Given the description of an element on the screen output the (x, y) to click on. 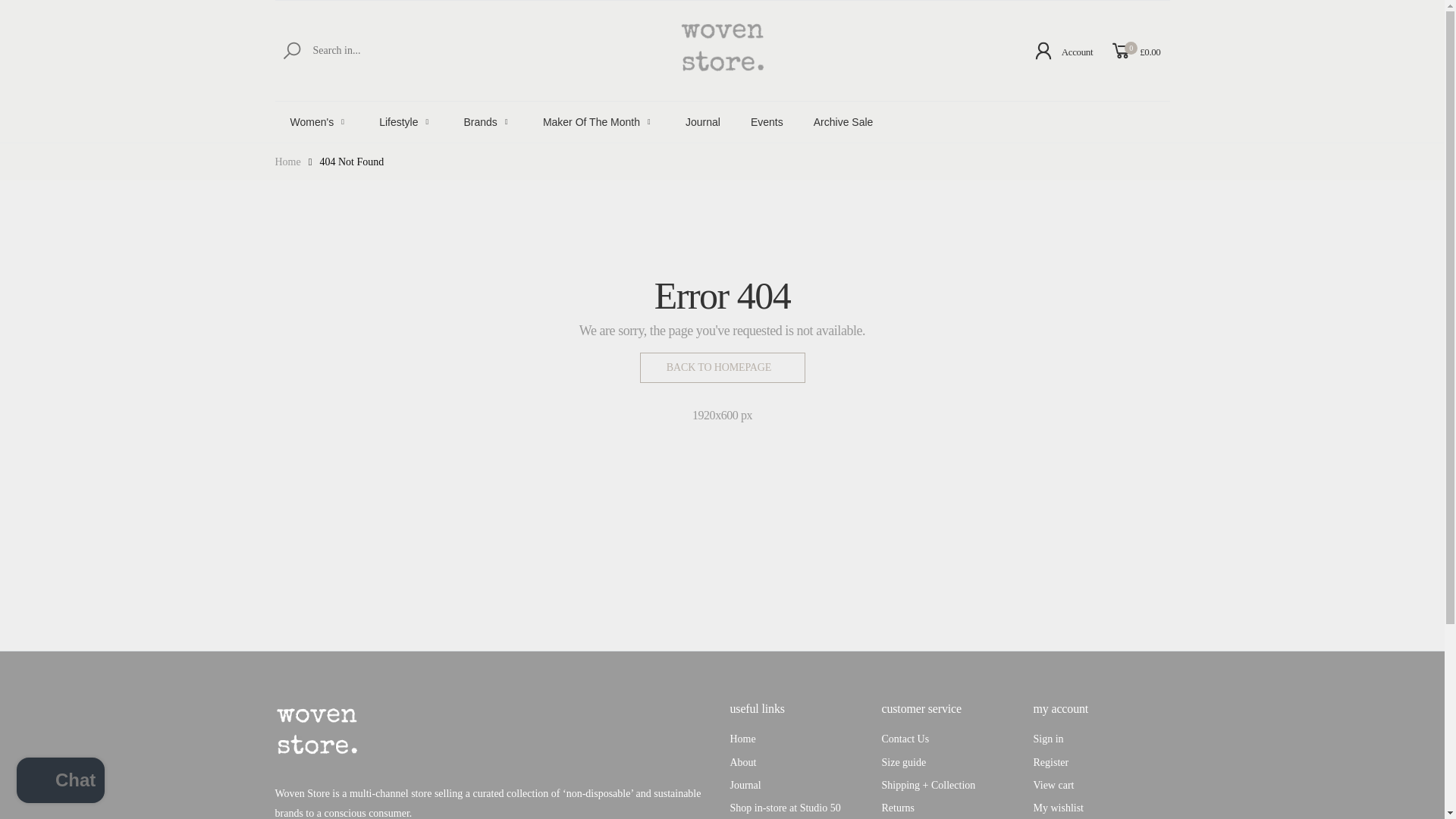
Women'S (319, 121)
Home (287, 161)
Shopify online store chat (60, 781)
Maker Of The Month (599, 121)
Lifestyle (405, 121)
Account (1062, 50)
Brands (488, 121)
